Given the description of an element on the screen output the (x, y) to click on. 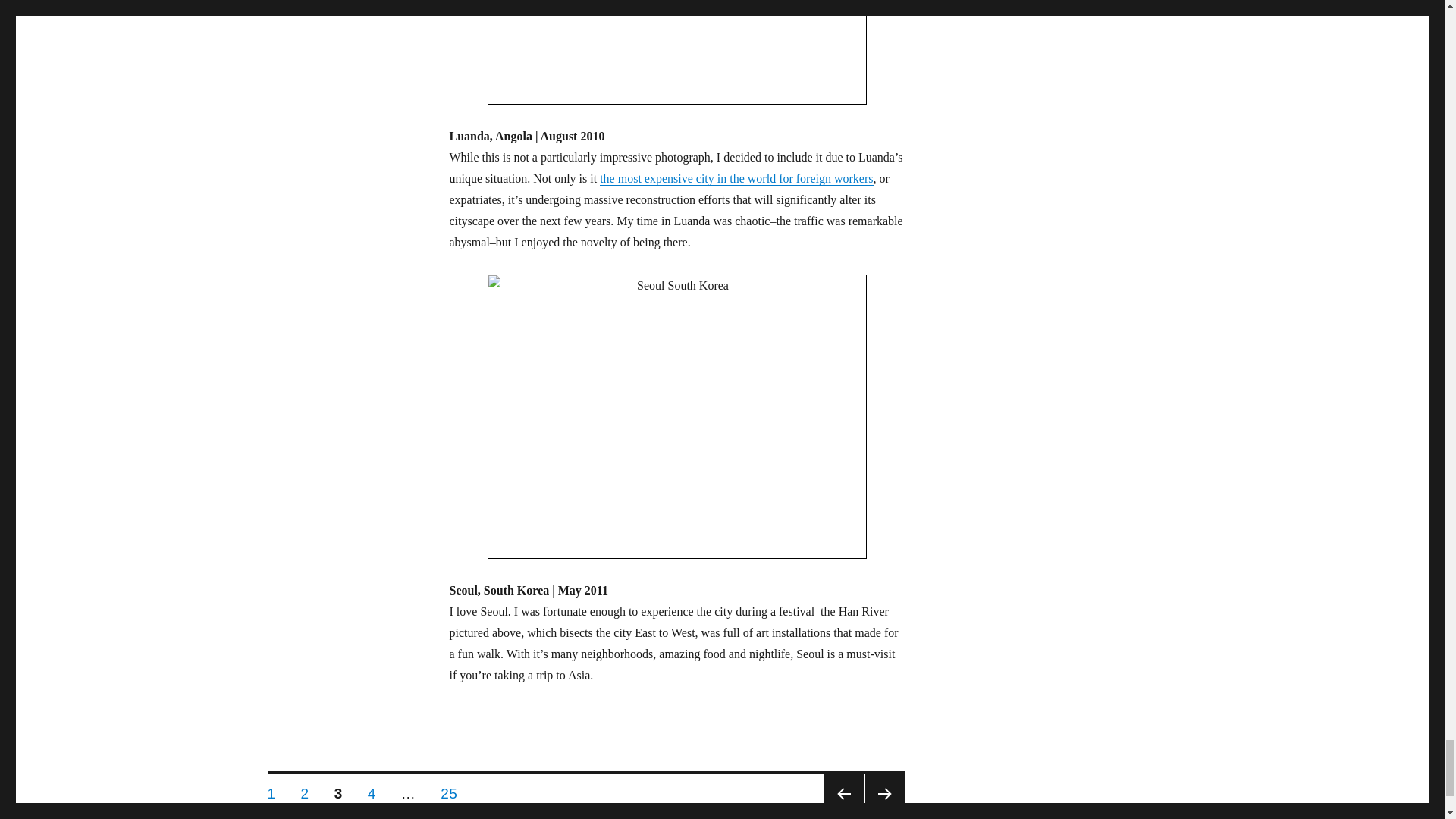
Luanda Angola (676, 52)
Seoul South Korea (676, 416)
